Given the description of an element on the screen output the (x, y) to click on. 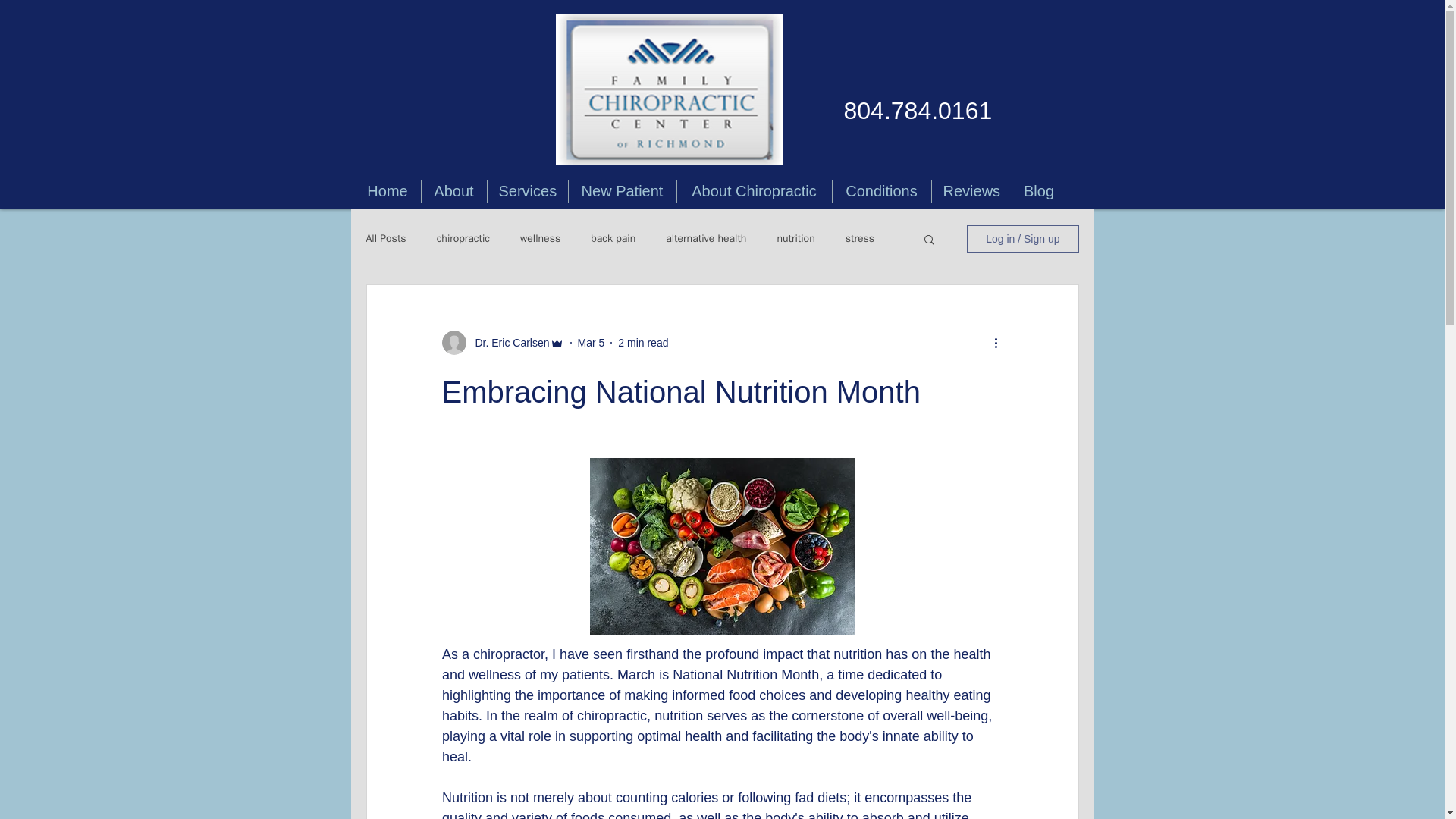
alternative health (705, 238)
Services (526, 191)
Blog (1038, 191)
About (454, 191)
Mar 5 (591, 342)
chiropractic (462, 238)
2 min read (642, 342)
New Patient (623, 191)
Home (387, 191)
wellness (539, 238)
